Given the description of an element on the screen output the (x, y) to click on. 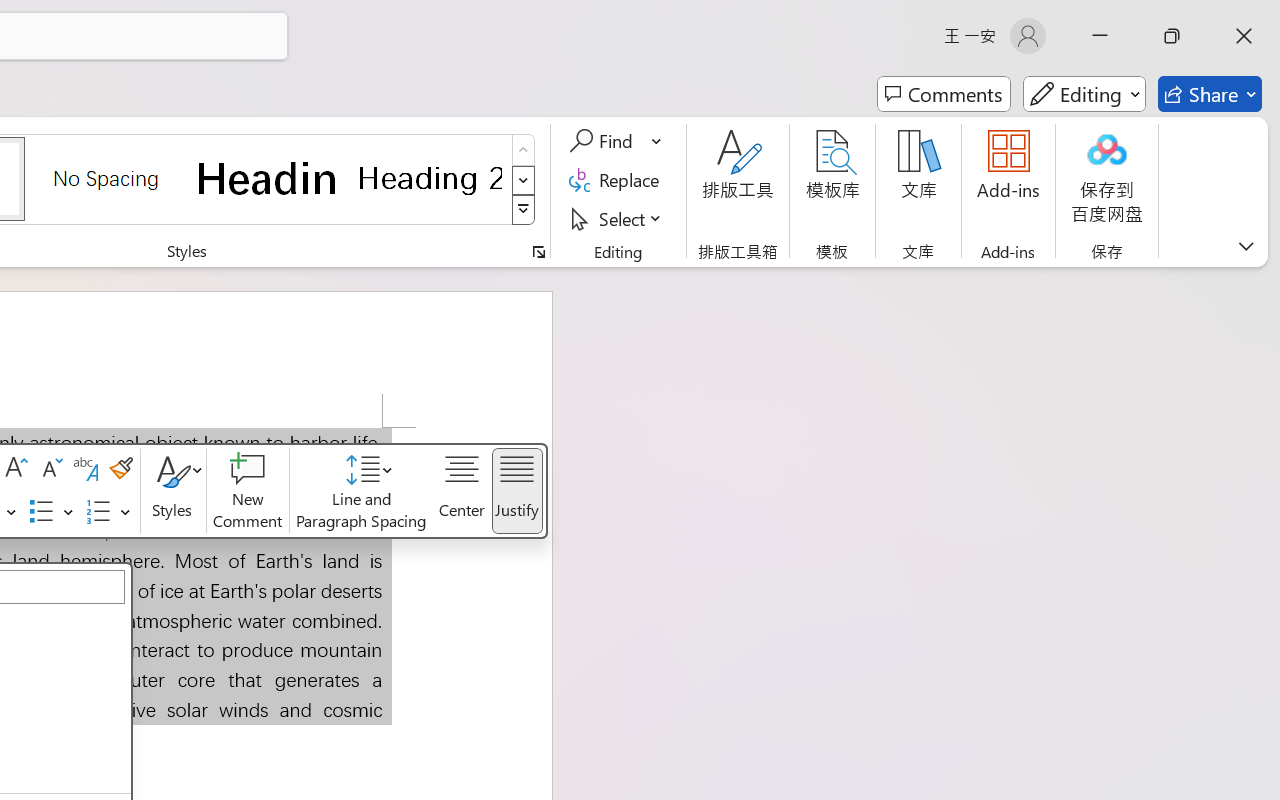
Row up (523, 150)
Grow Font (16, 469)
Row Down (523, 180)
Shrink Font (50, 469)
Center (462, 491)
Styles... (538, 252)
Justify (516, 491)
Heading 1 (267, 178)
